Given the description of an element on the screen output the (x, y) to click on. 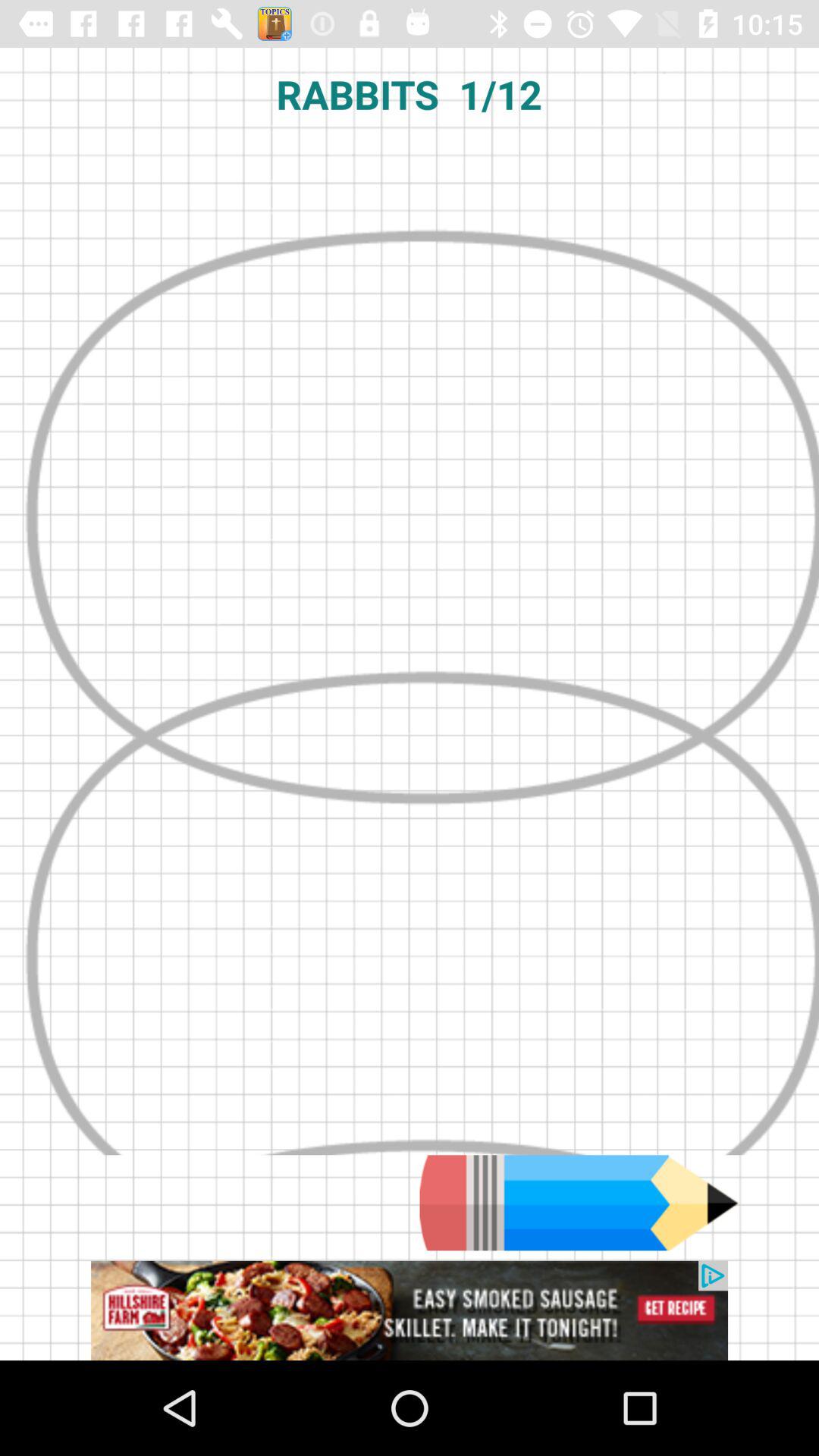
sponsored advertisement (409, 1310)
